Given the description of an element on the screen output the (x, y) to click on. 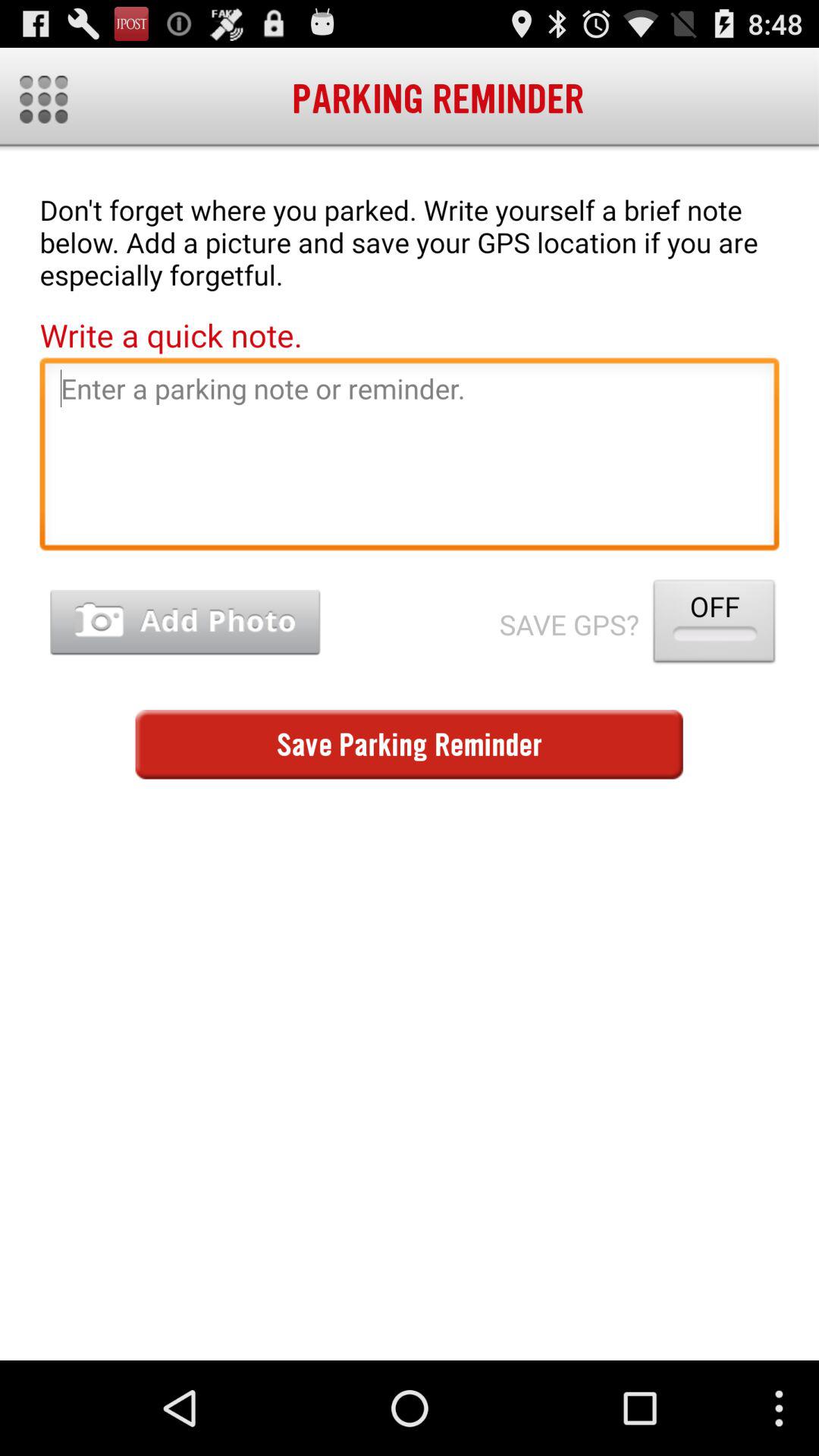
select off item (714, 624)
